Given the description of an element on the screen output the (x, y) to click on. 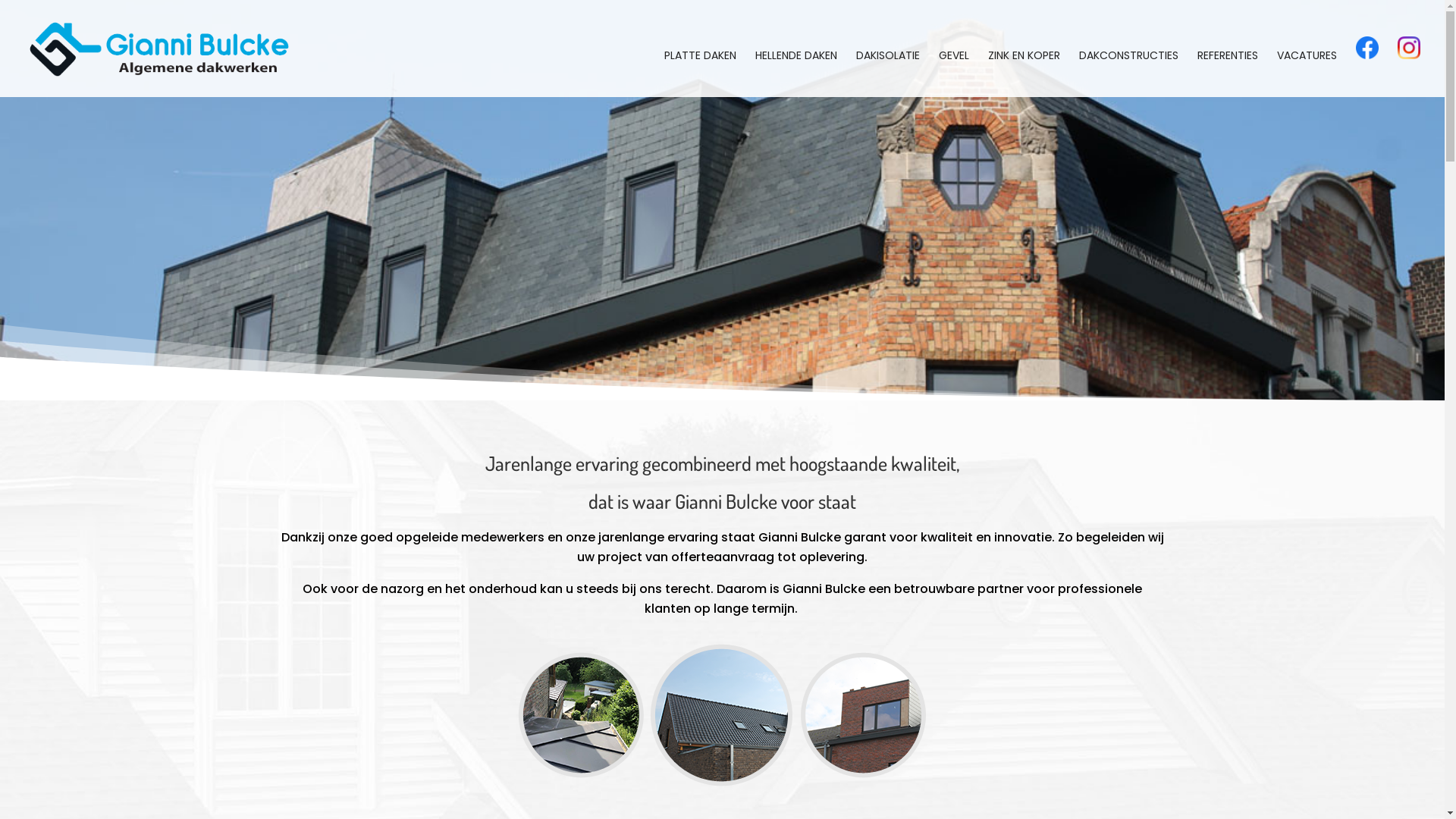
DAKCONSTRUCTIES Element type: text (1128, 73)
REFERENTIES Element type: text (1227, 73)
DAKISOLATIE Element type: text (887, 73)
VACATURES Element type: text (1306, 73)
GEVEL Element type: text (953, 73)
HELLENDE DAKEN Element type: text (796, 73)
ZINK EN KOPER Element type: text (1024, 73)
PLATTE DAKEN Element type: text (700, 73)
